Given the description of an element on the screen output the (x, y) to click on. 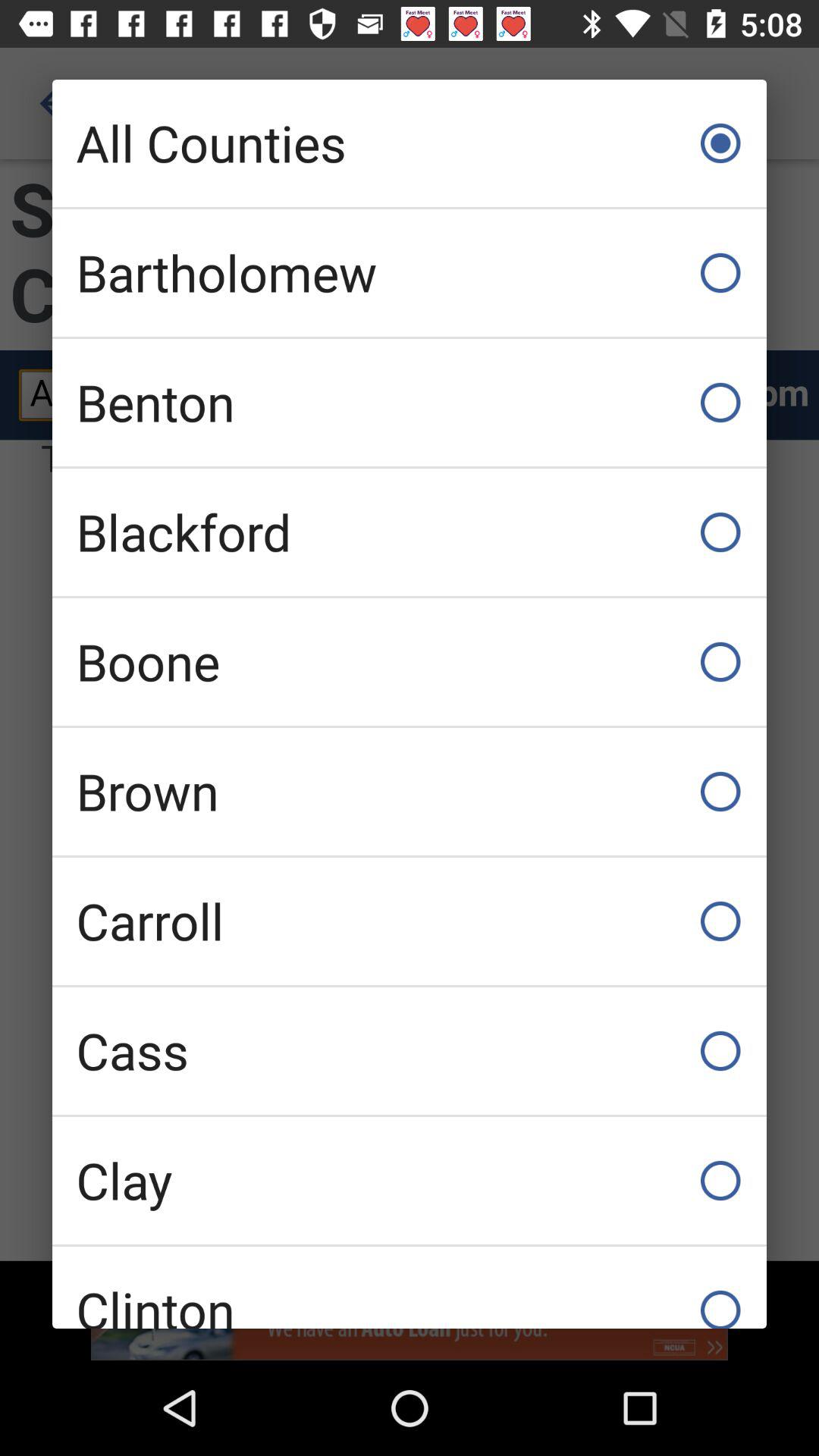
turn off the icon below the bartholomew icon (409, 402)
